Given the description of an element on the screen output the (x, y) to click on. 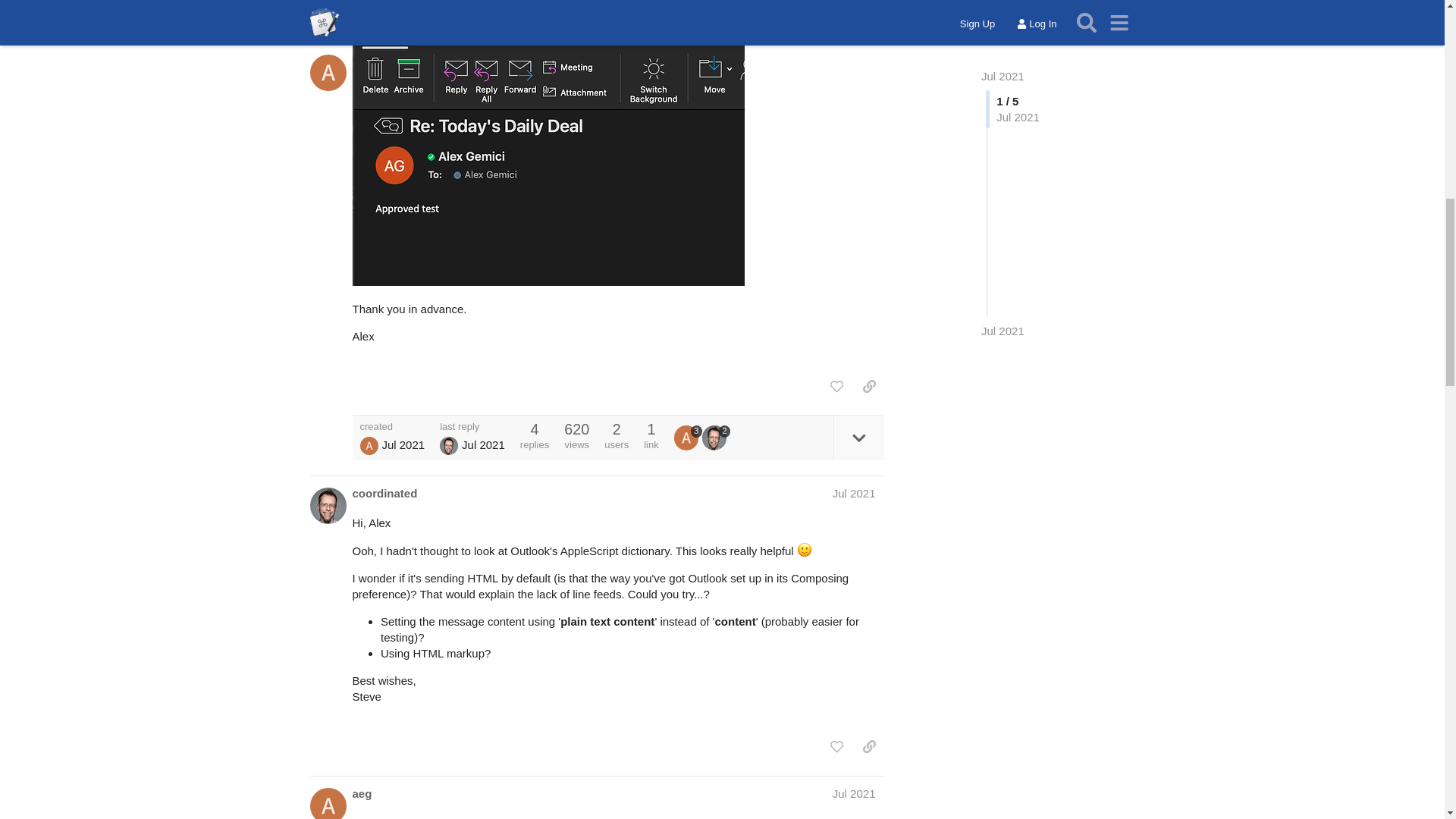
Alex (368, 445)
Jul 20, 2021 12:00 am (483, 444)
last reply (472, 426)
Steve Holden (448, 445)
Jul 2021 (854, 492)
Jul 19, 2021 8:19 pm (403, 444)
Jul 2021 (854, 793)
3 (687, 437)
2 (715, 437)
copy a link to this post to clipboard (869, 386)
